Given the description of an element on the screen output the (x, y) to click on. 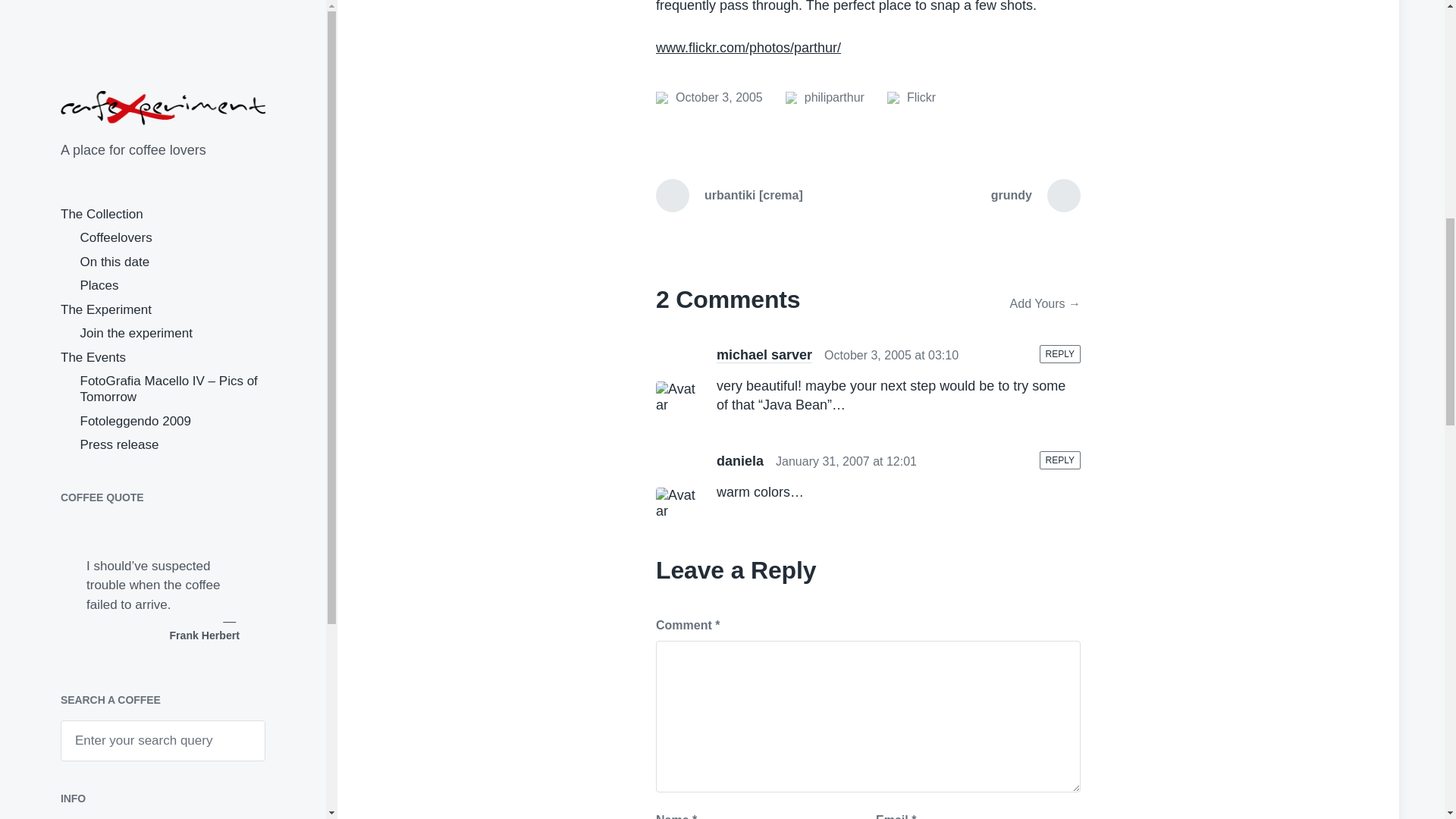
grundy (709, 97)
Facebook (204, 139)
Cookie Policy (99, 47)
Credits (81, 10)
Toggle the search field (77, 139)
Login (77, 67)
Pinterest (246, 139)
Privacy Policy (101, 29)
Twitter (119, 139)
Telegram (77, 182)
